Given the description of an element on the screen output the (x, y) to click on. 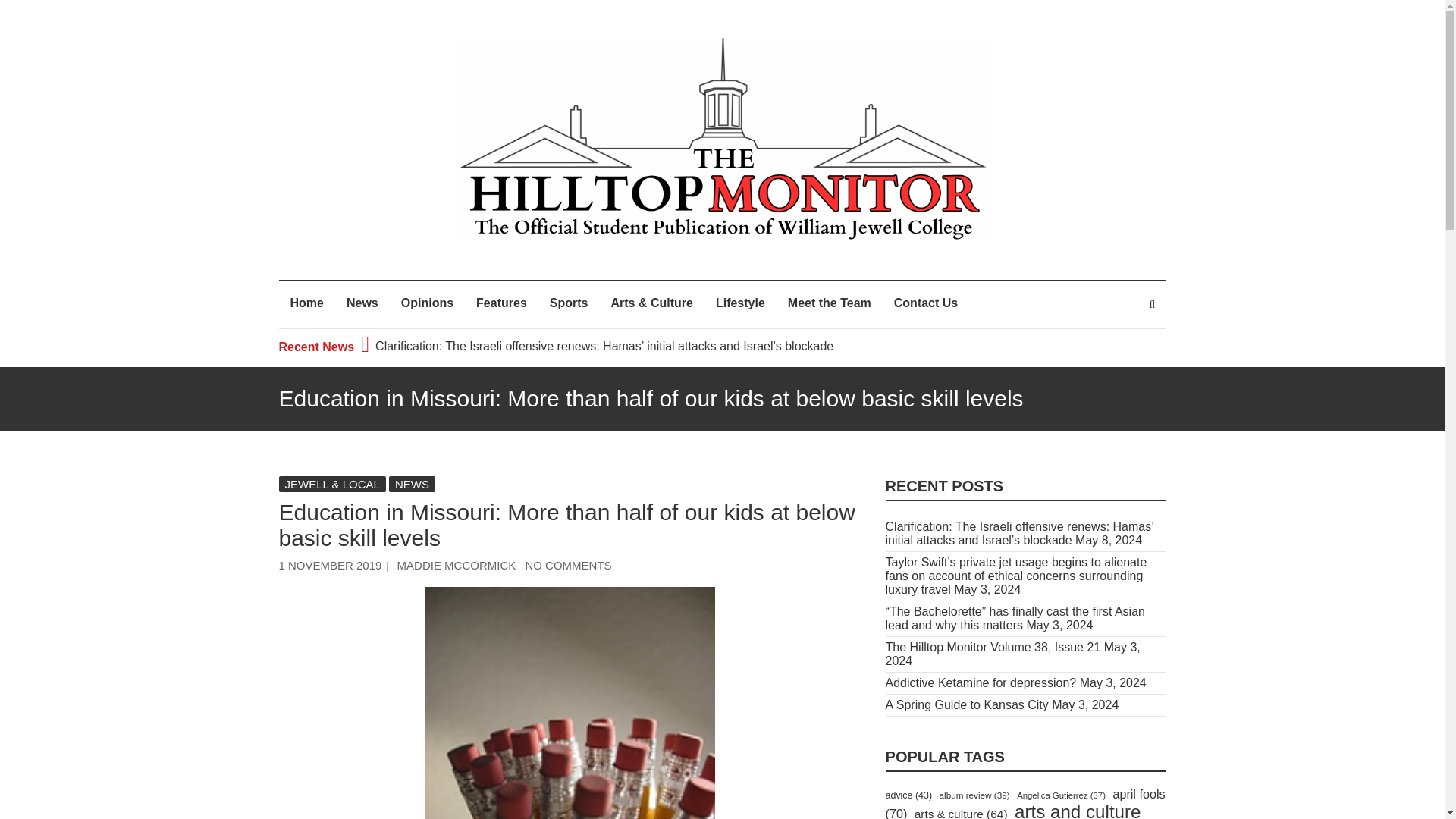
Opinions (427, 304)
News (362, 304)
Home (306, 304)
The Hilltop Monitor (536, 256)
1 November 2019 (330, 564)
Sports (568, 304)
The Hilltop Monitor (536, 256)
Features (501, 304)
